Given the description of an element on the screen output the (x, y) to click on. 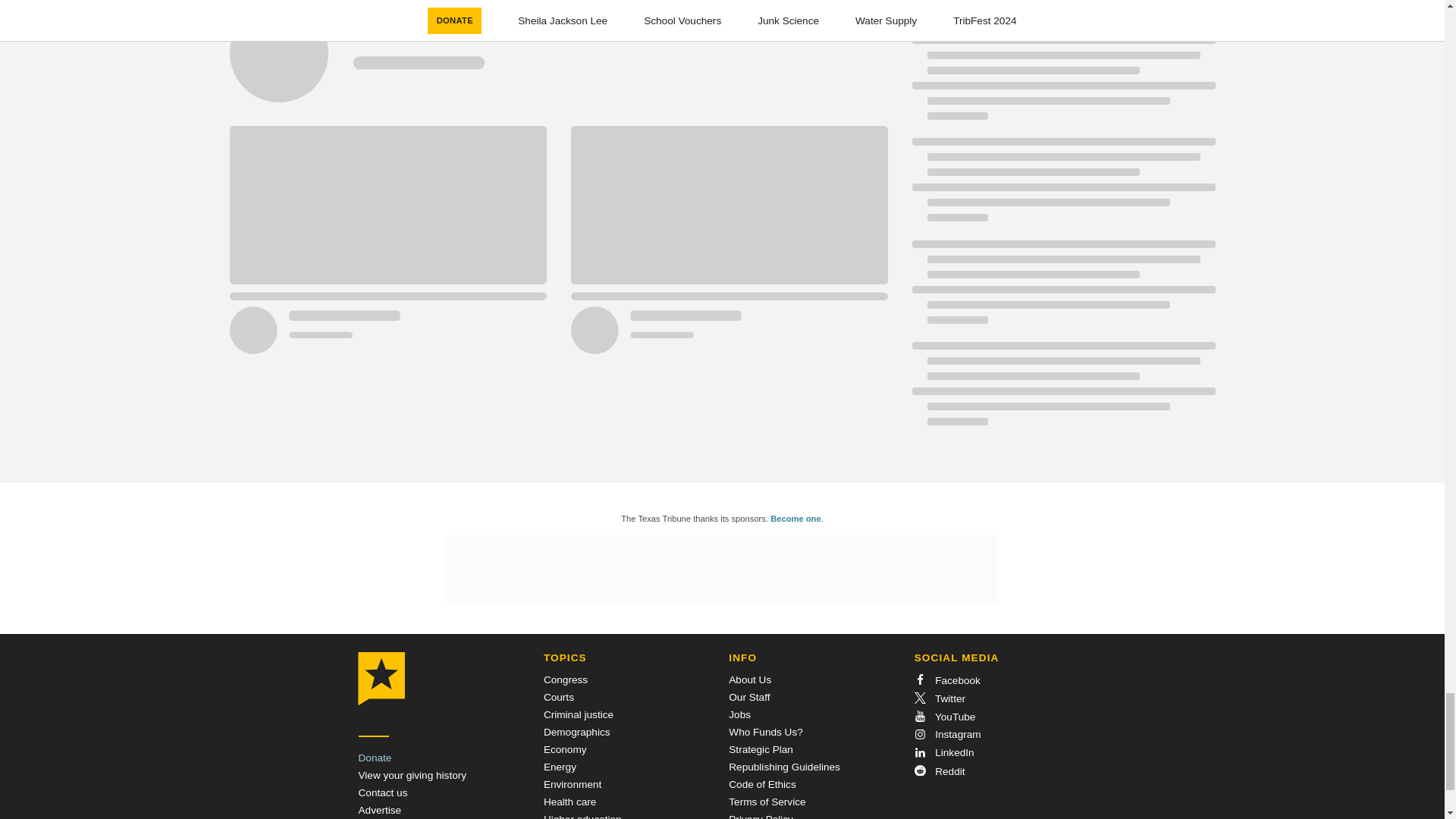
Advertise (379, 809)
Loading indicator (557, 61)
Facebook (946, 680)
Who Funds Us? (765, 731)
Terms of Service (767, 801)
Donate (374, 757)
About Us (750, 679)
Republishing Guidelines (784, 767)
Contact us (382, 792)
Strategic Plan (761, 749)
